Given the description of an element on the screen output the (x, y) to click on. 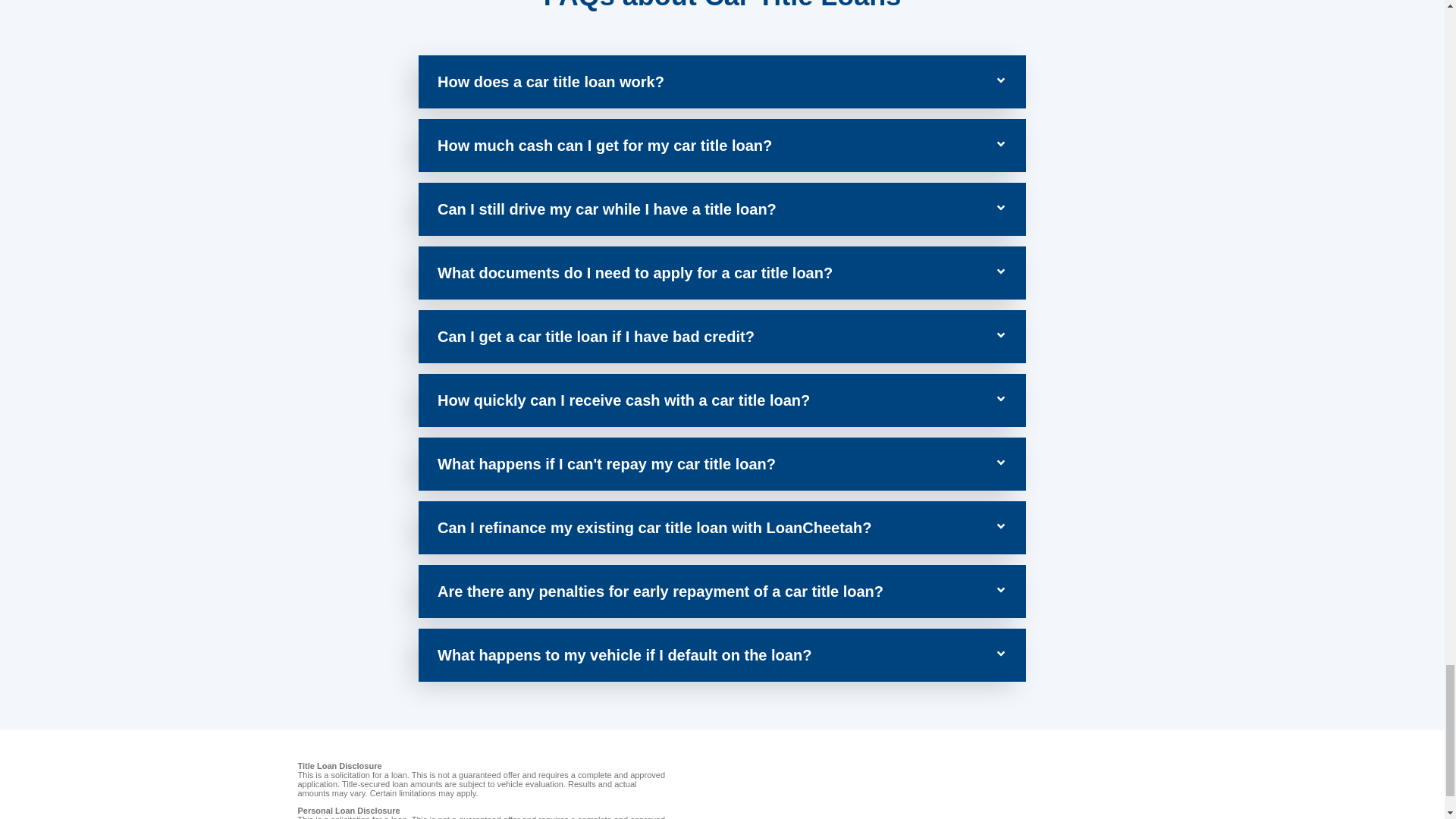
Can I still drive my car while I have a title loan? (607, 208)
How does a car title loan work? (550, 81)
What documents do I need to apply for a car title loan? (635, 272)
How much cash can I get for my car title loan? (604, 145)
Can I get a car title loan if I have bad credit? (596, 336)
